Given the description of an element on the screen output the (x, y) to click on. 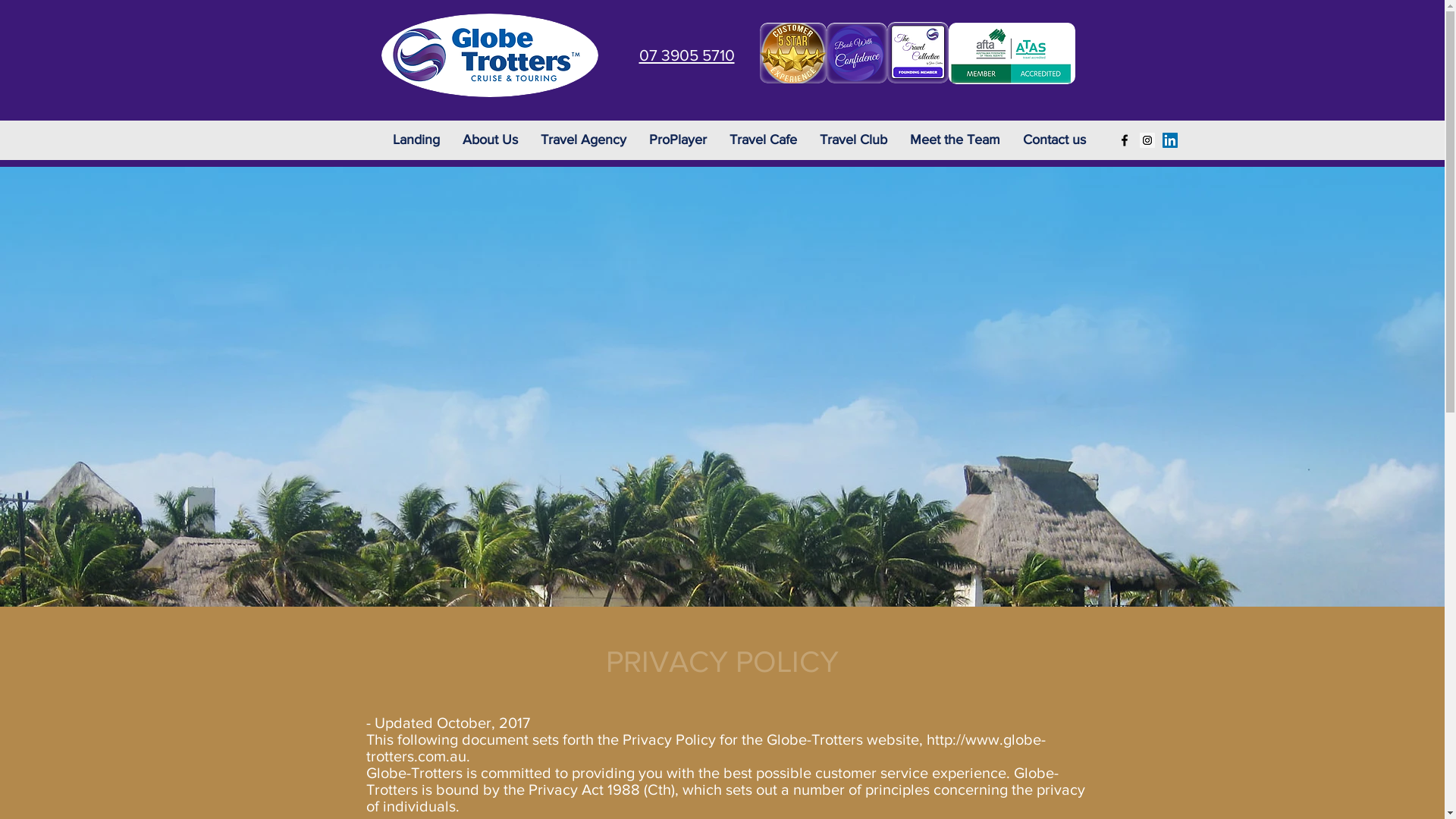
ProPlayer Element type: text (677, 139)
Travel Agency Element type: text (583, 139)
Contact us Element type: text (1054, 139)
http://www.globe-trotters.com.au Element type: text (704, 747)
Meet the Team Element type: text (953, 139)
Landing Element type: text (415, 139)
07 3905 5710 Element type: text (686, 54)
Travel Cafe Element type: text (762, 139)
